Given the description of an element on the screen output the (x, y) to click on. 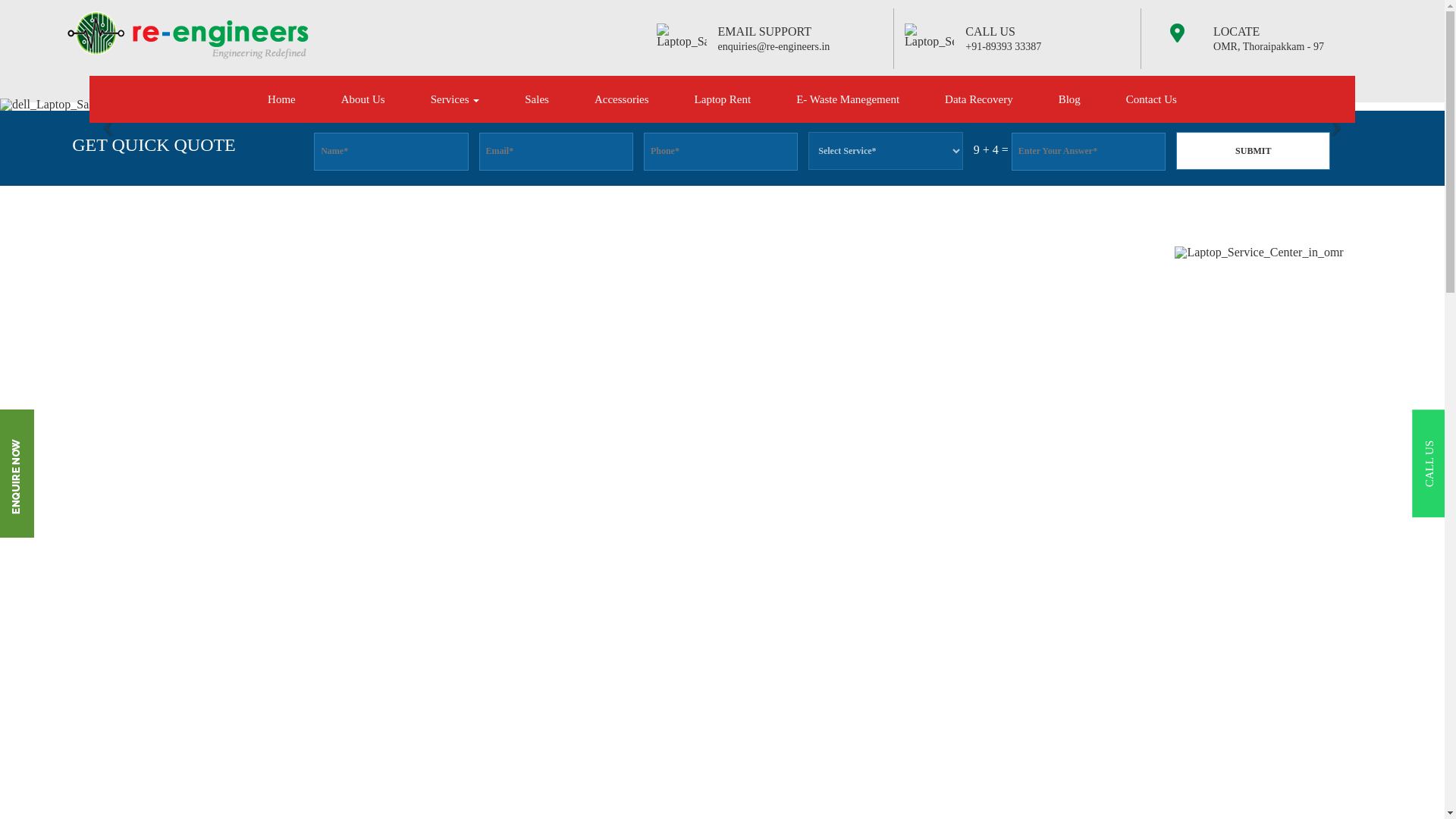
Laptop Rent (722, 99)
Laptop Sales (537, 99)
About Us (362, 99)
Contact Us (1151, 99)
About Us (362, 99)
Home (281, 99)
Data Recovery (978, 99)
Services (454, 99)
Submit (1253, 150)
Submit (1253, 150)
